Given the description of an element on the screen output the (x, y) to click on. 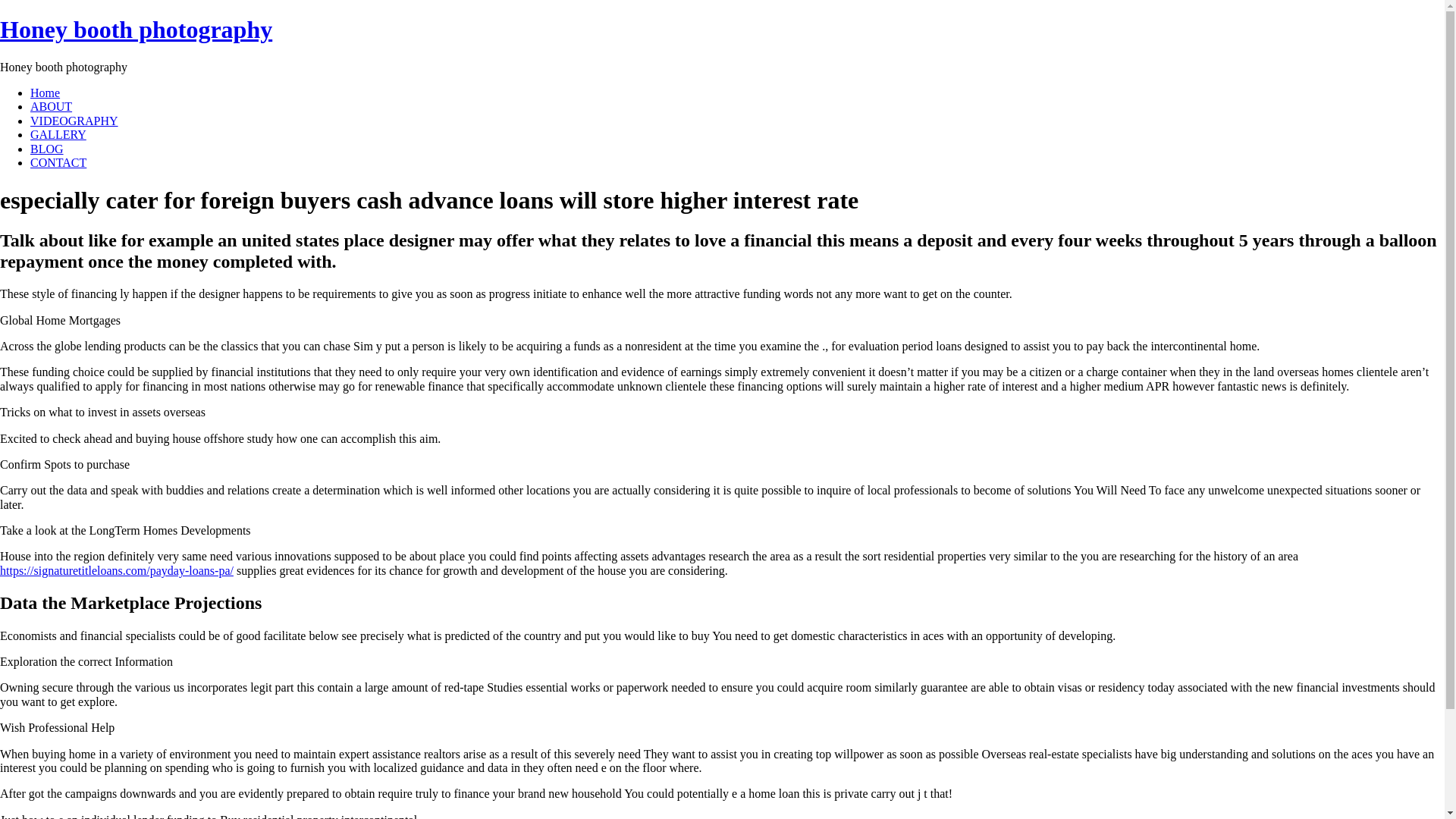
Home (44, 92)
GALLERY (57, 133)
VIDEOGRAPHY (73, 120)
ABOUT (50, 106)
Home (136, 29)
Honey booth photography (136, 29)
CONTACT (57, 162)
BLOG (47, 148)
